Given the description of an element on the screen output the (x, y) to click on. 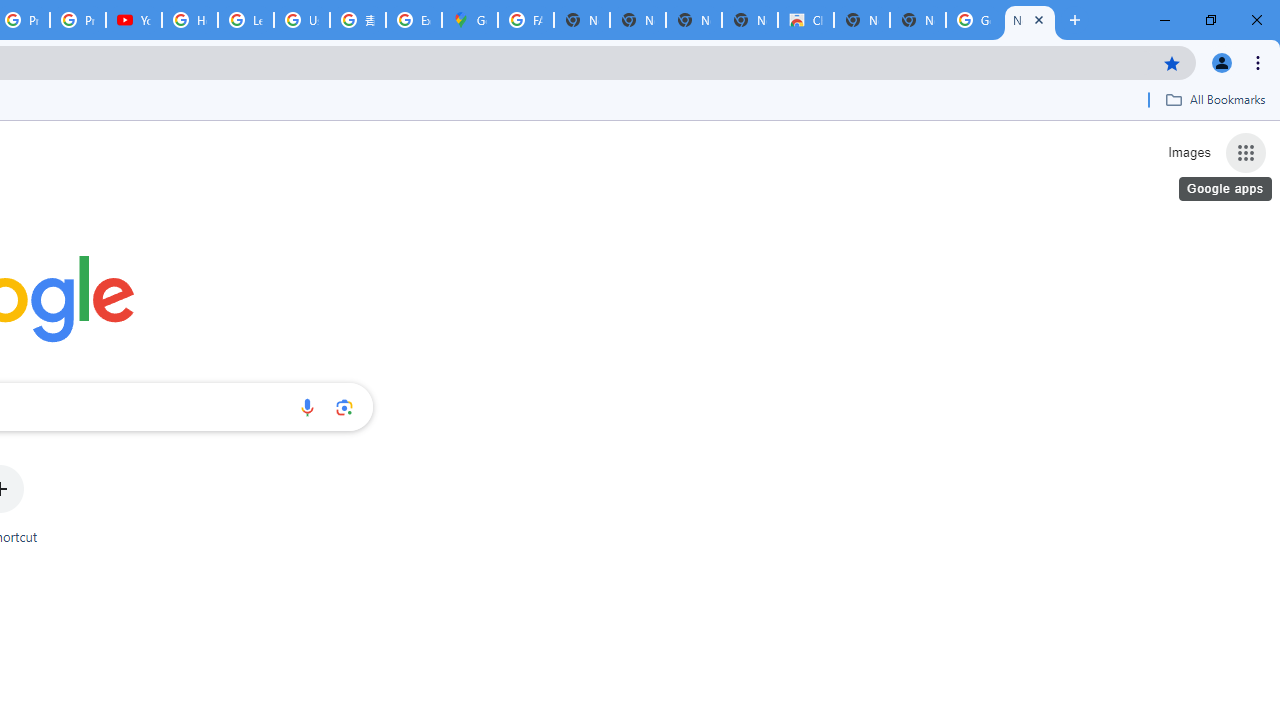
YouTube (134, 20)
Explore new street-level details - Google Maps Help (413, 20)
Chrome Web Store (806, 20)
New Tab (917, 20)
